Given the description of an element on the screen output the (x, y) to click on. 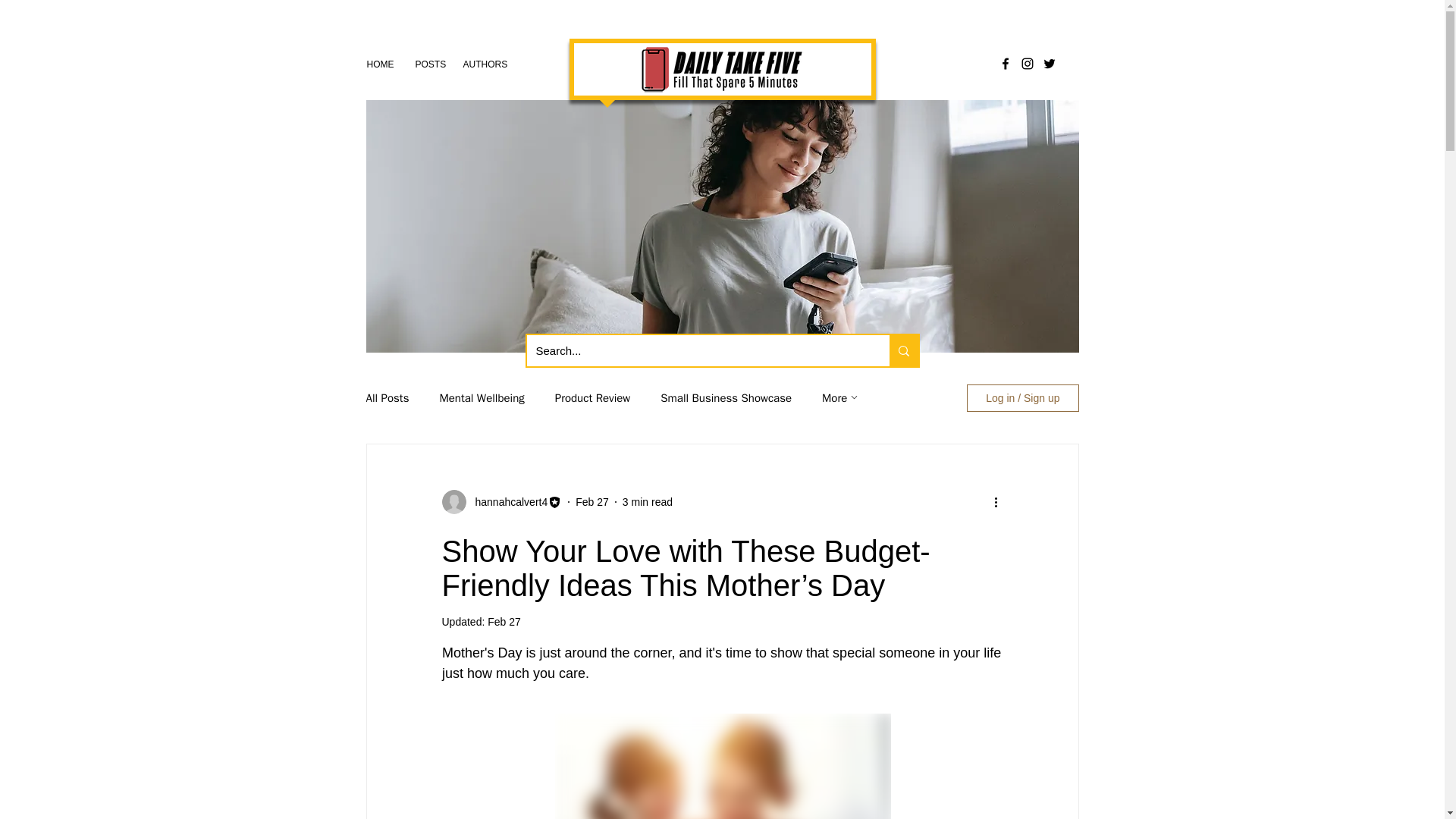
AUTHORS (482, 64)
Product Review (592, 398)
All Posts (387, 398)
Feb 27 (504, 621)
POSTS (428, 64)
Small Business Showcase (726, 398)
Mental Wellbeing (481, 398)
3 min read (647, 501)
hannahcalvert4 (506, 502)
NewBlogLogo.png (721, 70)
